Given the description of an element on the screen output the (x, y) to click on. 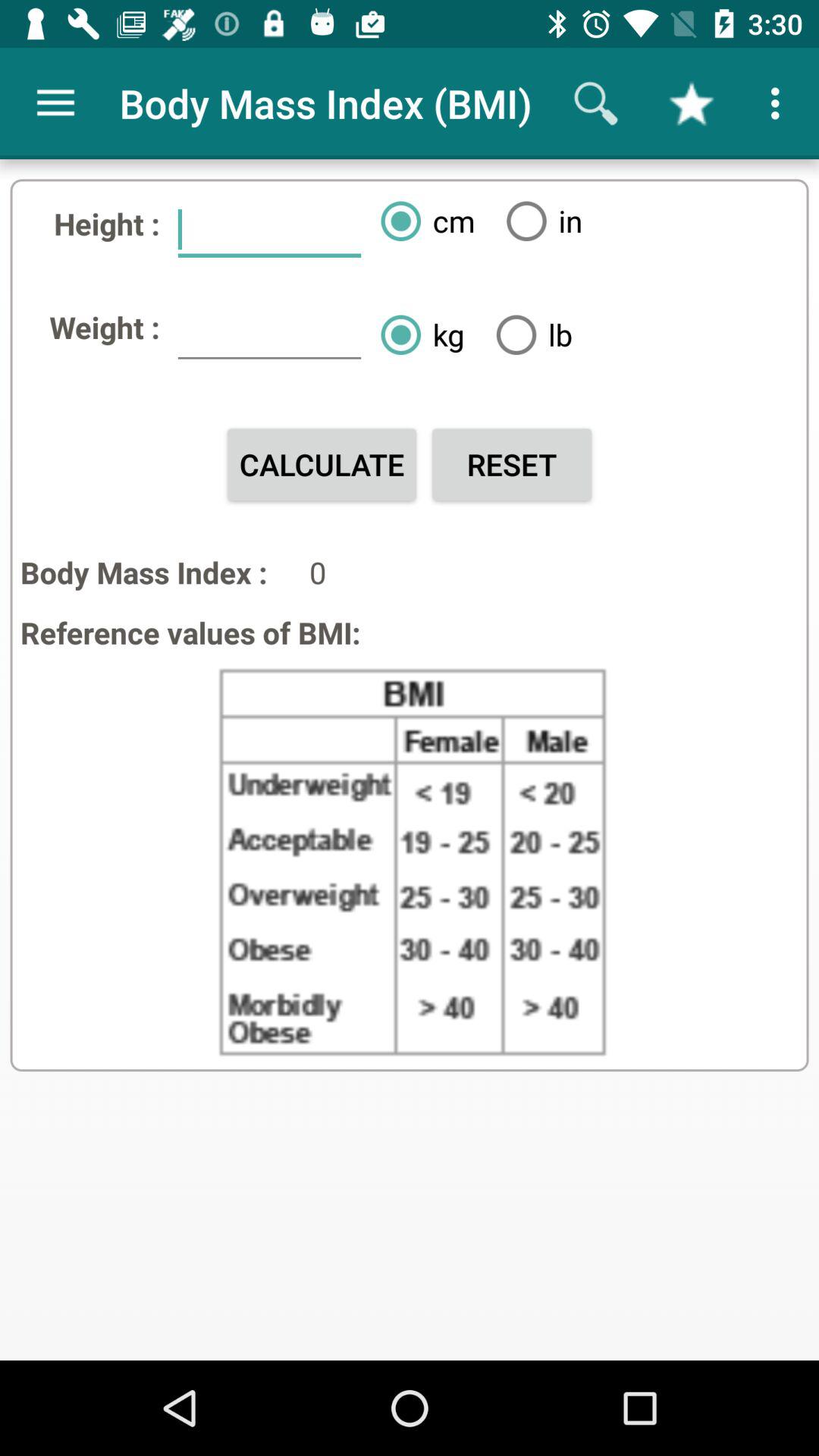
select app to the left of the body mass index app (55, 103)
